Given the description of an element on the screen output the (x, y) to click on. 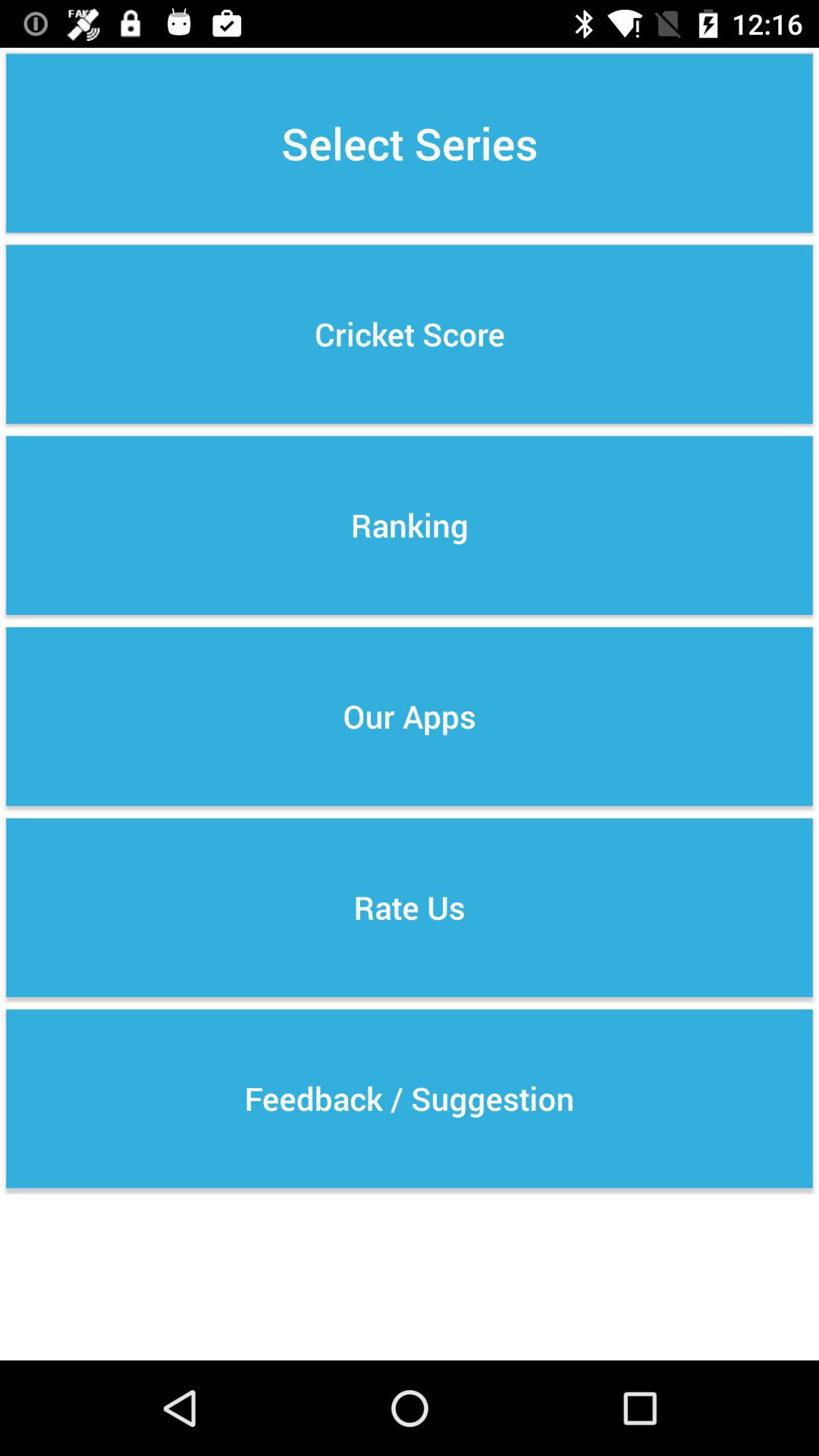
jump to ranking button (409, 525)
